Given the description of an element on the screen output the (x, y) to click on. 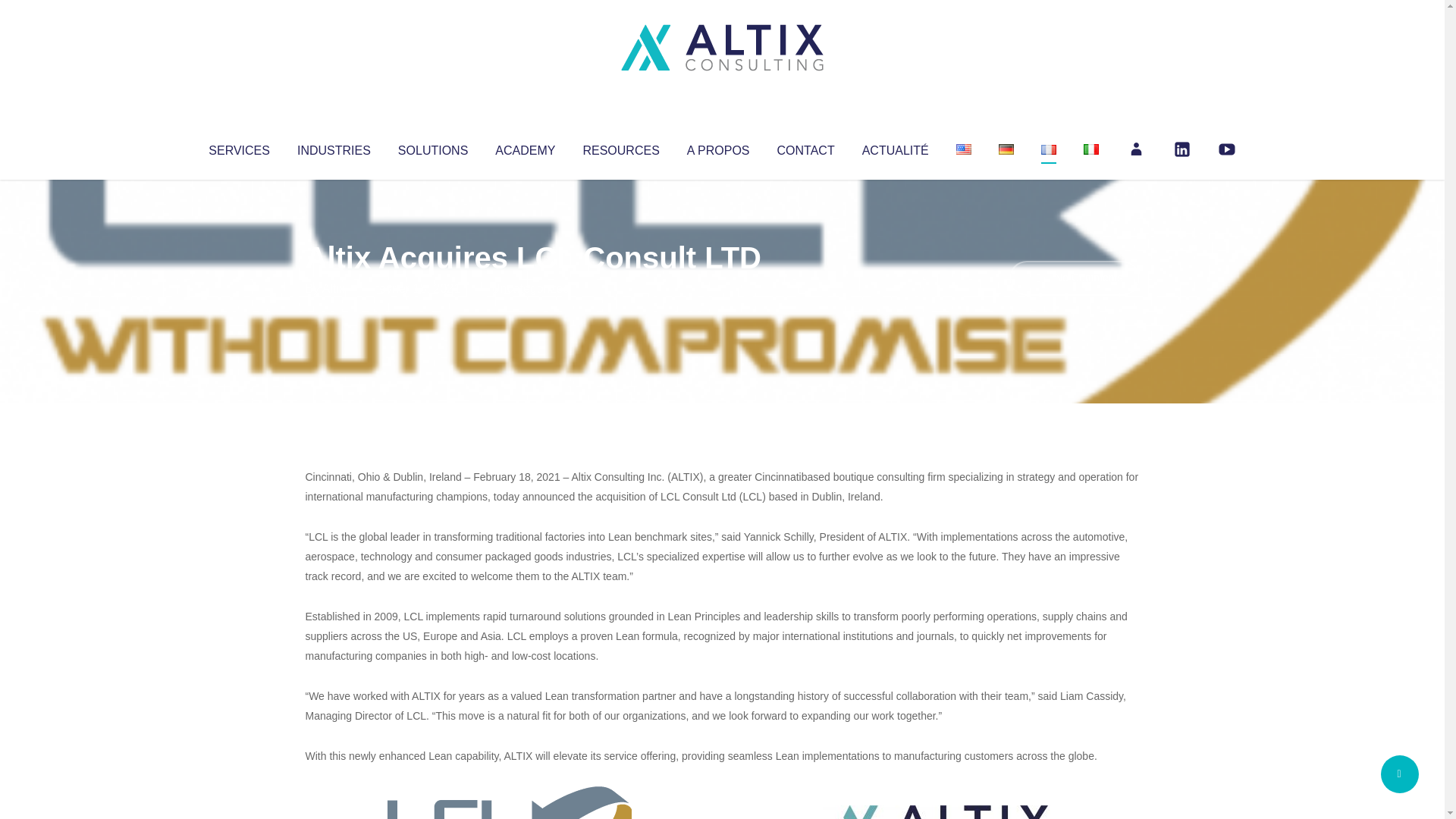
RESOURCES (620, 146)
SERVICES (238, 146)
Altix (333, 287)
No Comments (1073, 278)
INDUSTRIES (334, 146)
A PROPOS (718, 146)
SOLUTIONS (432, 146)
ACADEMY (524, 146)
Uncategorized (530, 287)
Articles par Altix (333, 287)
